Given the description of an element on the screen output the (x, y) to click on. 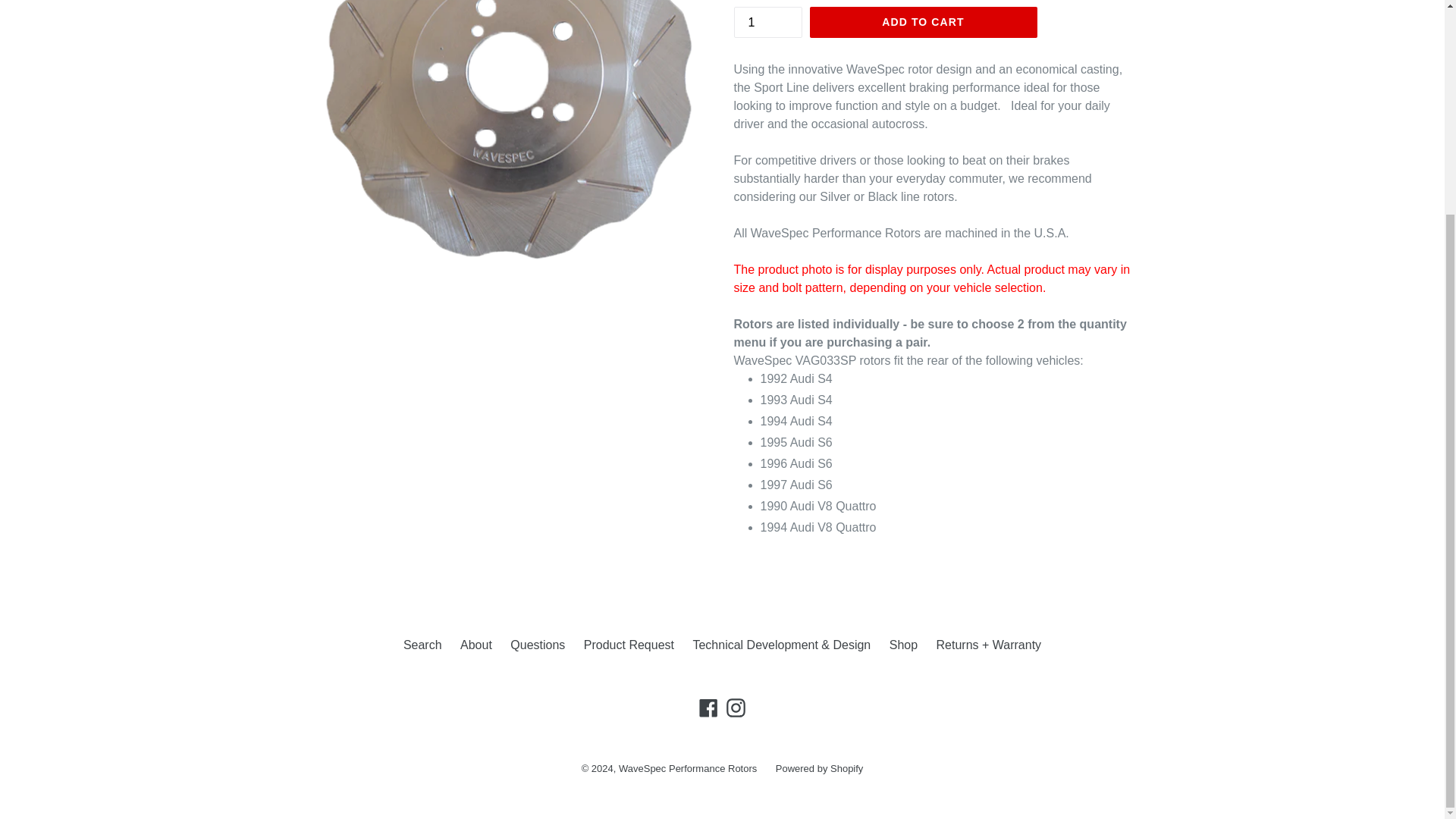
WaveSpec Performance Rotors on Facebook (708, 707)
1 (767, 21)
WaveSpec Performance Rotors on Instagram (735, 707)
